Given the description of an element on the screen output the (x, y) to click on. 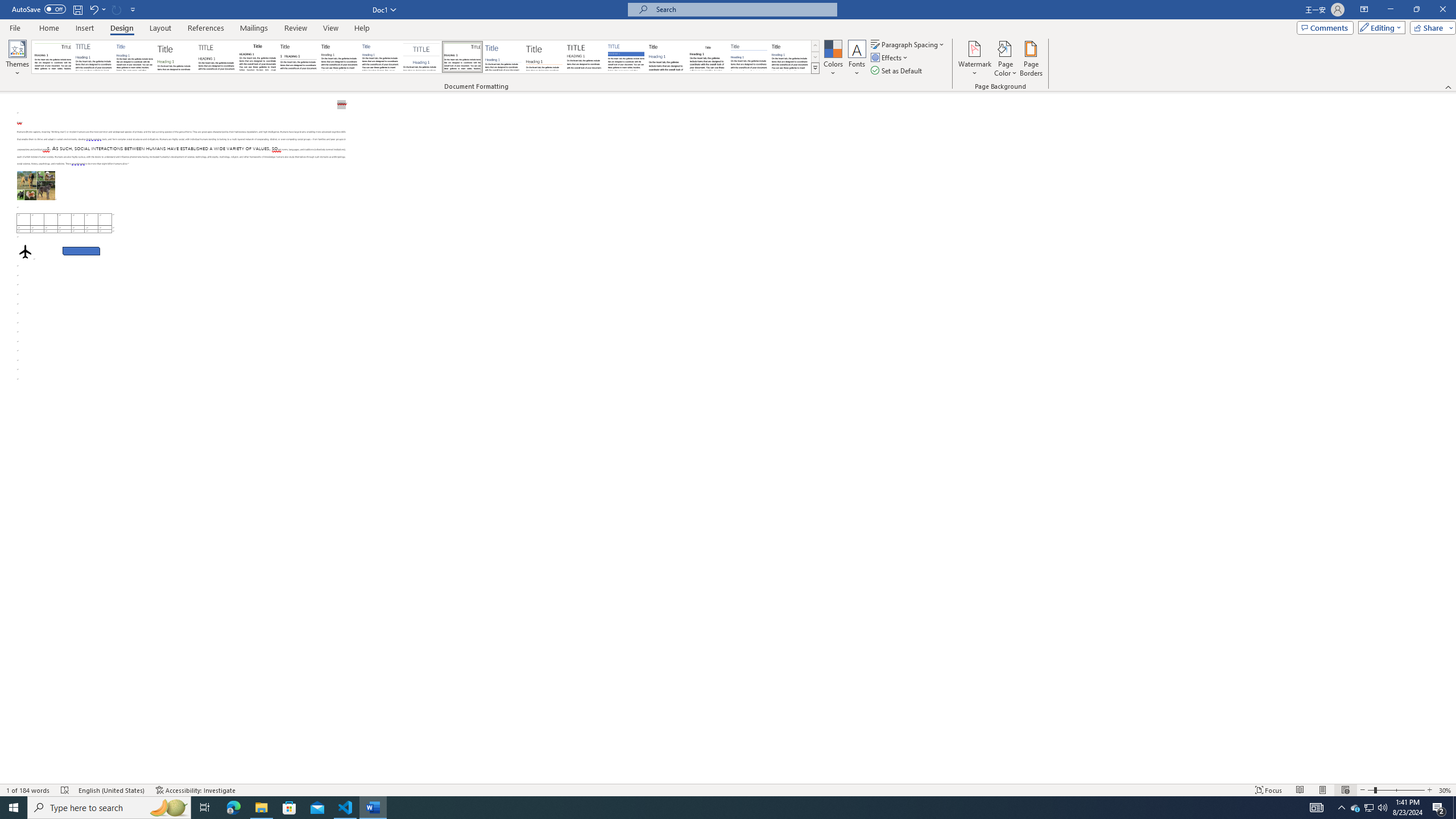
Zoom 30% (1445, 790)
Themes (17, 58)
Morphological variation in six dogs (36, 185)
Word Count 1 of 184 words (28, 790)
Shaded (625, 56)
Minimalist (584, 56)
Word 2010 (749, 56)
Set as Default (897, 69)
